Given the description of an element on the screen output the (x, y) to click on. 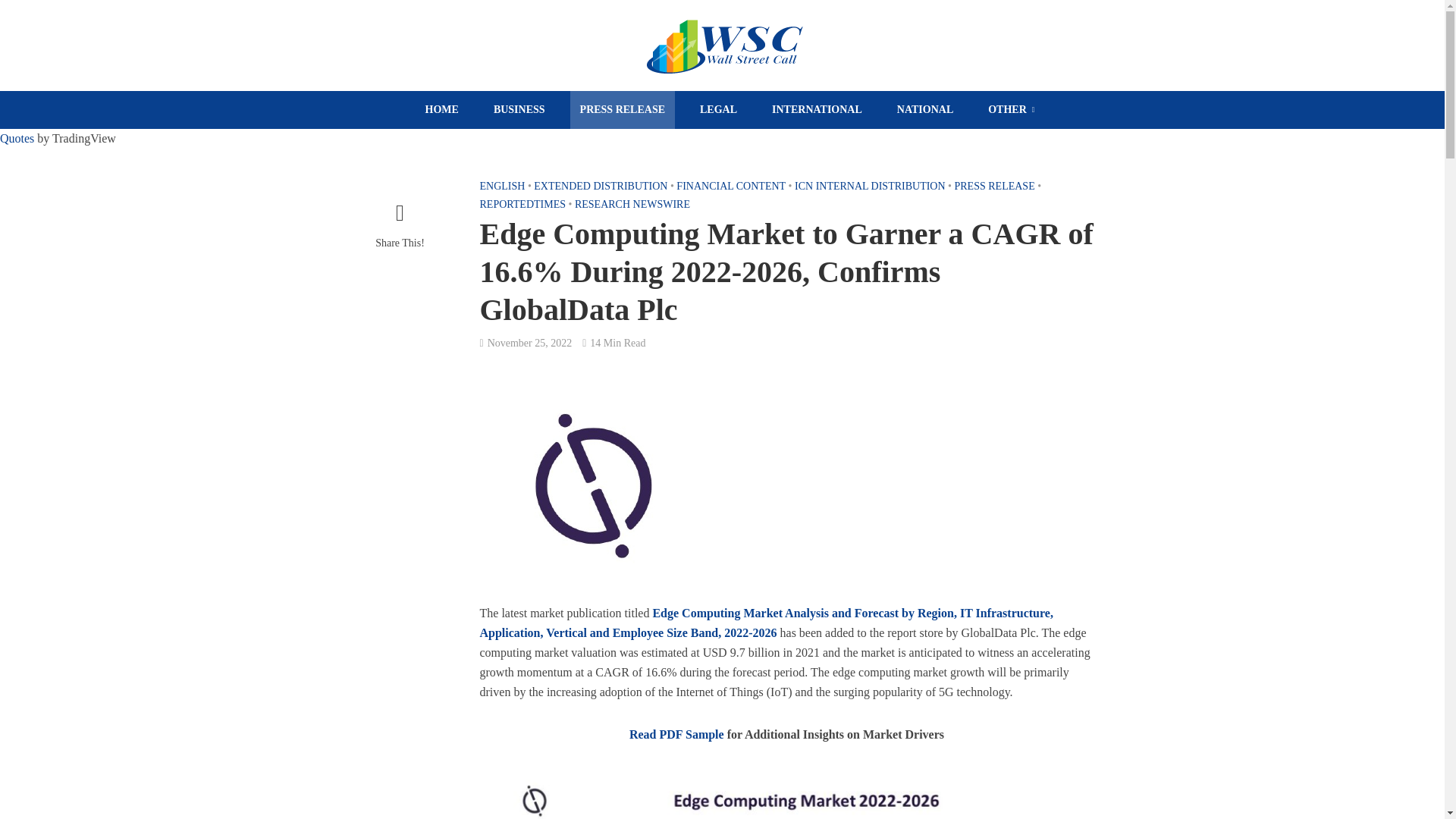
INTERNATIONAL (816, 109)
OTHER (1010, 109)
LEGAL (718, 109)
Quotes (16, 137)
NATIONAL (924, 109)
BUSINESS (518, 109)
PRESS RELEASE (622, 109)
HOME (441, 109)
